Given the description of an element on the screen output the (x, y) to click on. 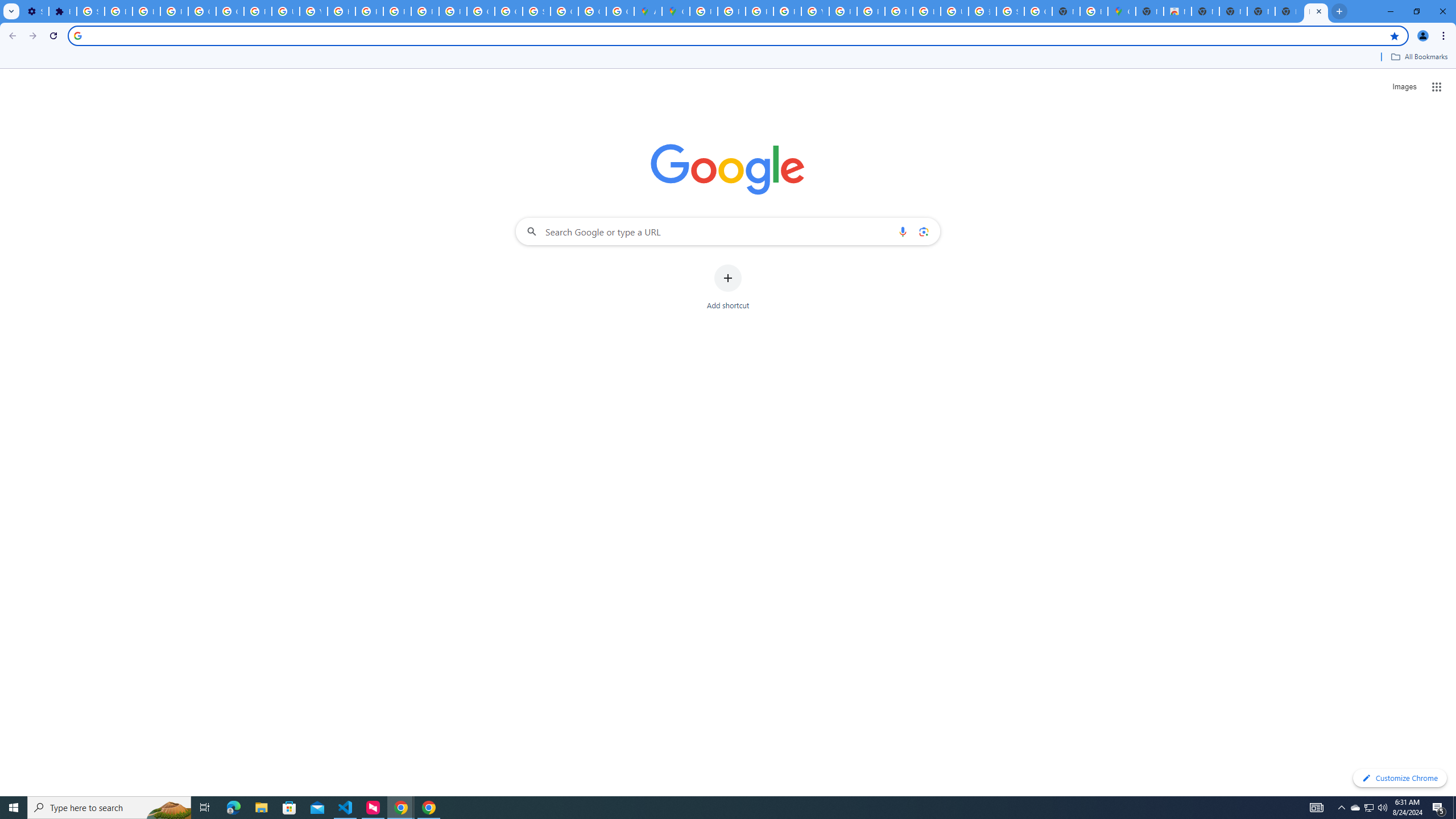
Learn how to find your photos - Google Photos Help (146, 11)
Search for Images  (1403, 87)
Sign in - Google Accounts (90, 11)
Sign in - Google Accounts (1010, 11)
Google apps (1436, 86)
Address and search bar (735, 35)
Delete photos & videos - Computer - Google Photos Help (118, 11)
Google Account Help (229, 11)
Customize Chrome (1399, 778)
Google Maps (1121, 11)
